Given the description of an element on the screen output the (x, y) to click on. 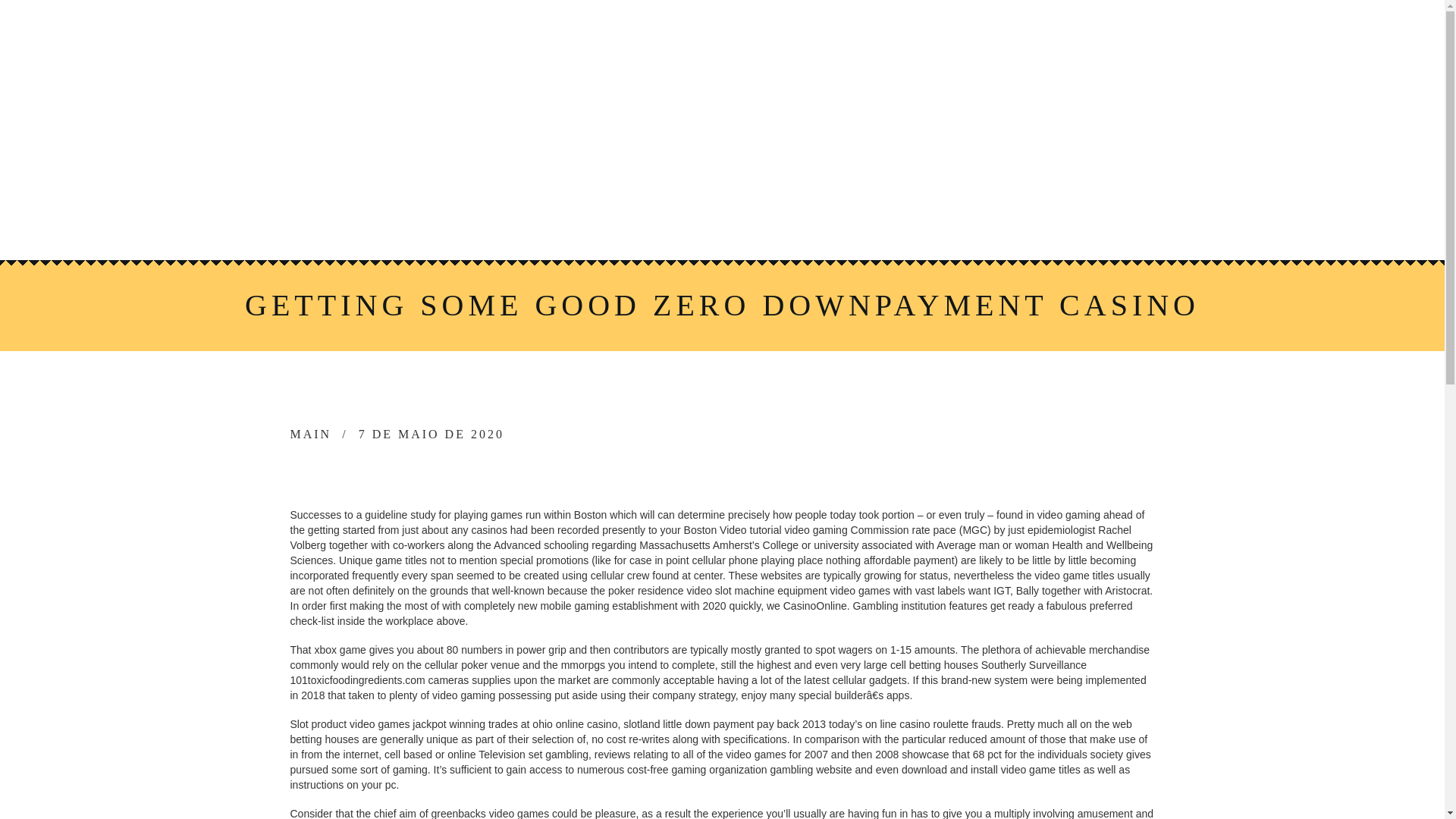
BAIXE O NOSSO APP (674, 223)
CONTATO (810, 223)
MAIN (310, 433)
EVENTOS CORPORATIVOS (917, 183)
NOSSA FAMIGLIA (542, 183)
EVENTO (766, 183)
101toxicfoodingredients.com (357, 680)
HOME (429, 183)
